Given the description of an element on the screen output the (x, y) to click on. 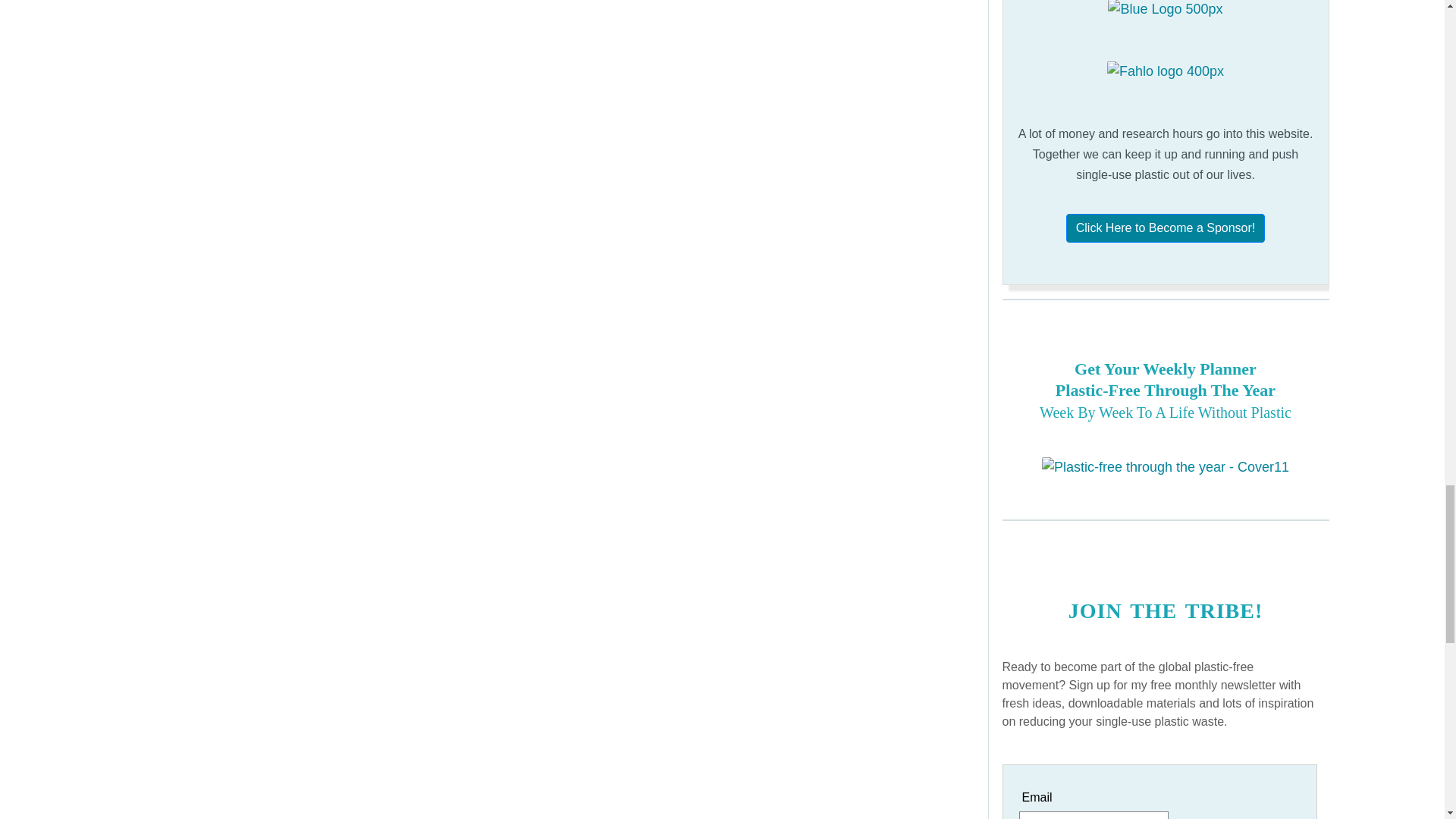
Fahlo logo 400px (1165, 71)
Go to Plastic-free through the year (1165, 467)
Plastic-free through the year - Cover11 (1165, 467)
Go to Contact Me (1165, 227)
Blue Logo 500px (1165, 9)
